Given the description of an element on the screen output the (x, y) to click on. 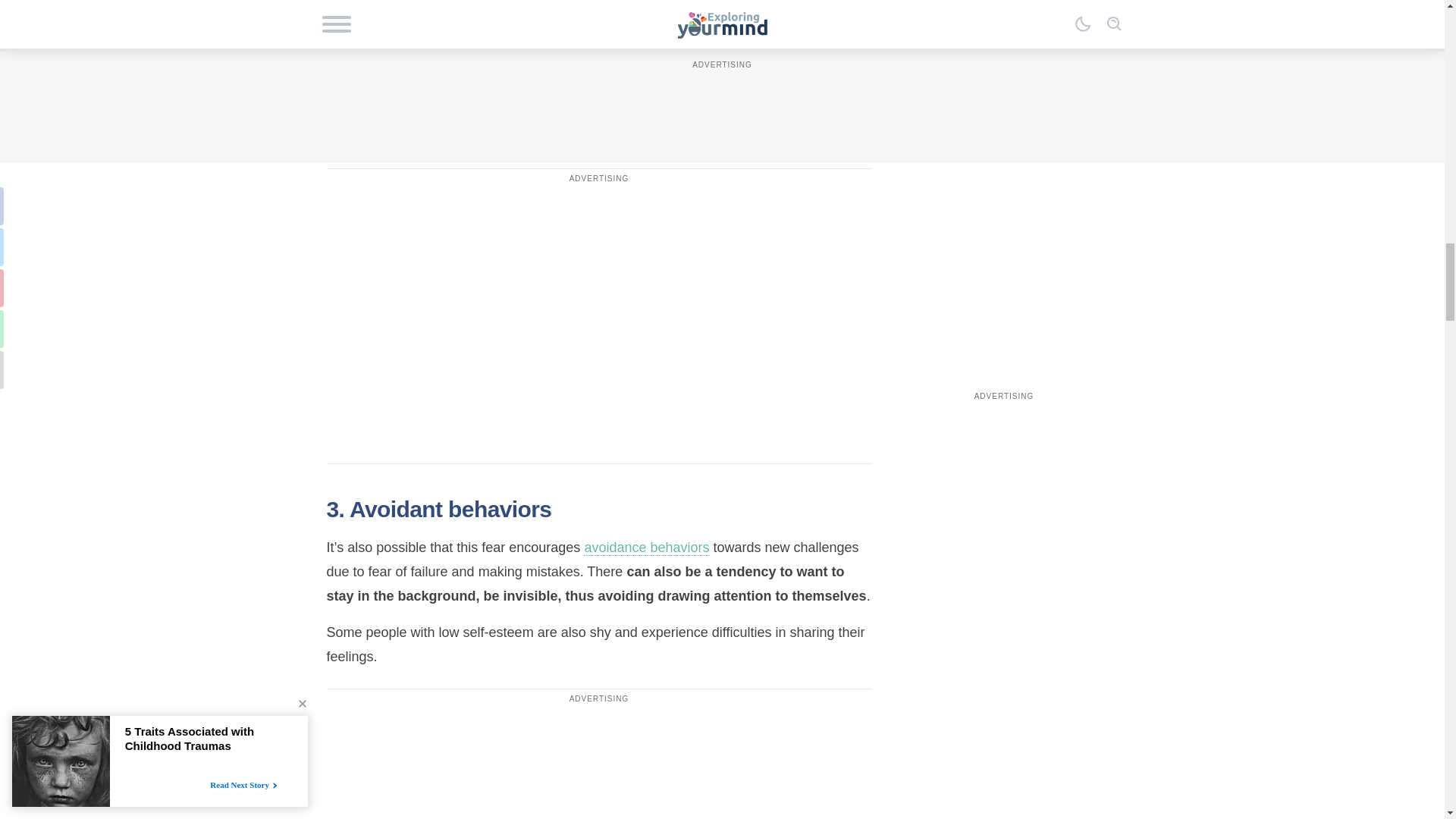
avoidance behaviors (646, 547)
show excessive concern about what they say (580, 5)
